Given the description of an element on the screen output the (x, y) to click on. 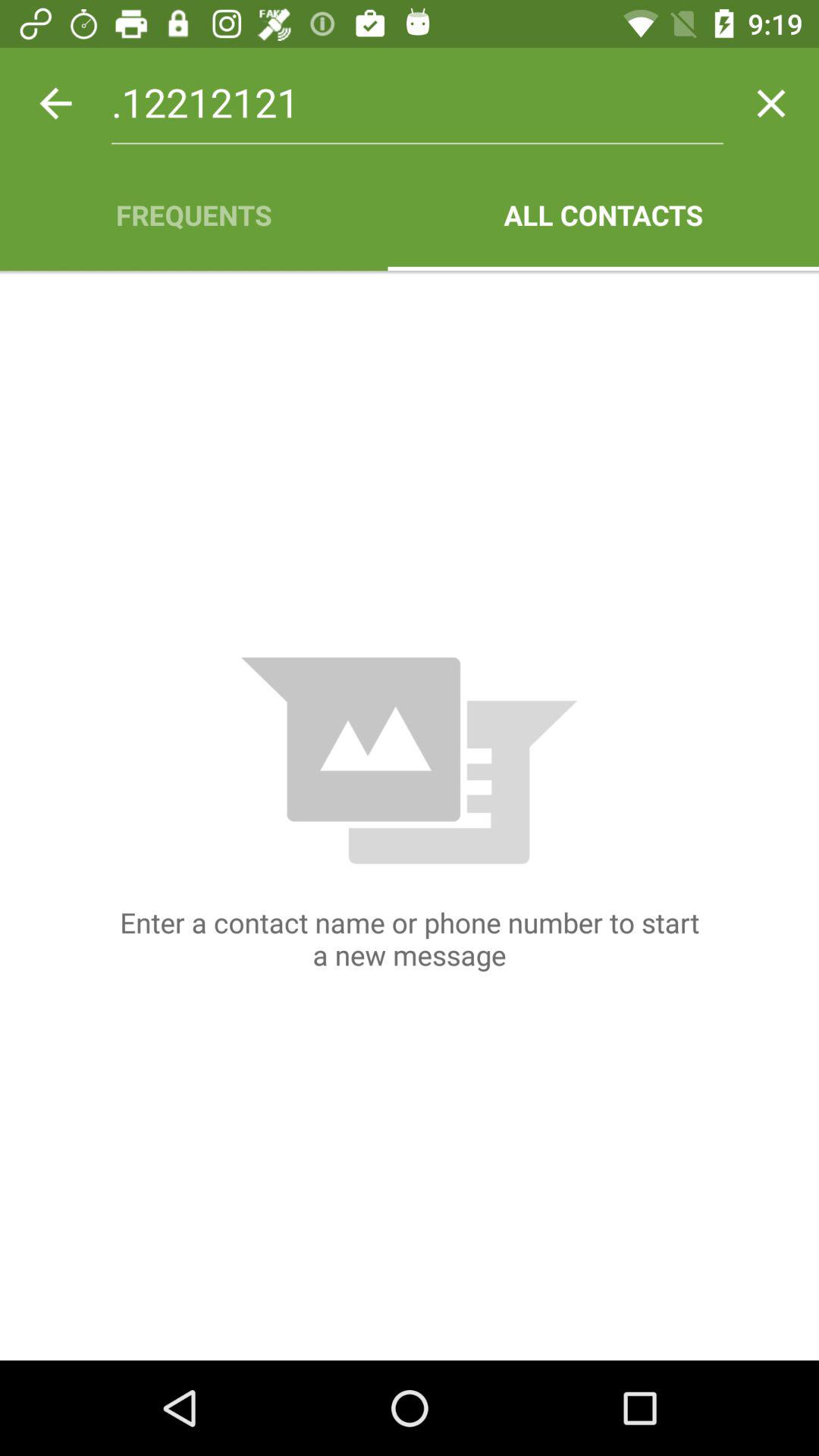
tap item to the left of all contacts (193, 214)
